Given the description of an element on the screen output the (x, y) to click on. 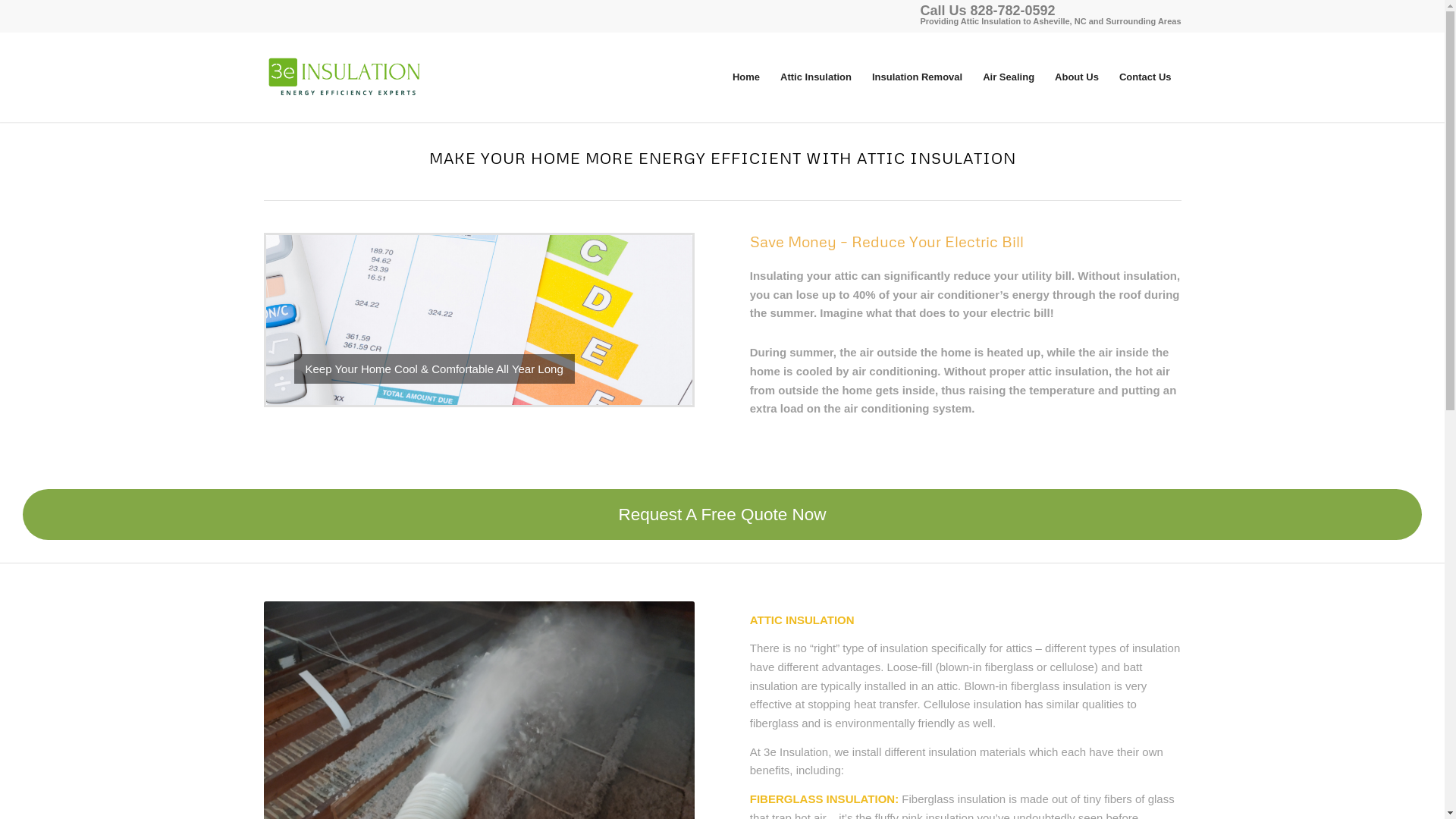
Attic Insulation Element type: text (815, 77)
Contact Us Element type: text (1144, 77)
Air Sealing Element type: text (1008, 77)
Insulation Removal Element type: text (916, 77)
Request A Free Quote Now Element type: text (721, 514)
About Us Element type: text (1076, 77)
Home Element type: text (745, 77)
Energy Efficient Attic Insulation Element type: hover (478, 319)
